Given the description of an element on the screen output the (x, y) to click on. 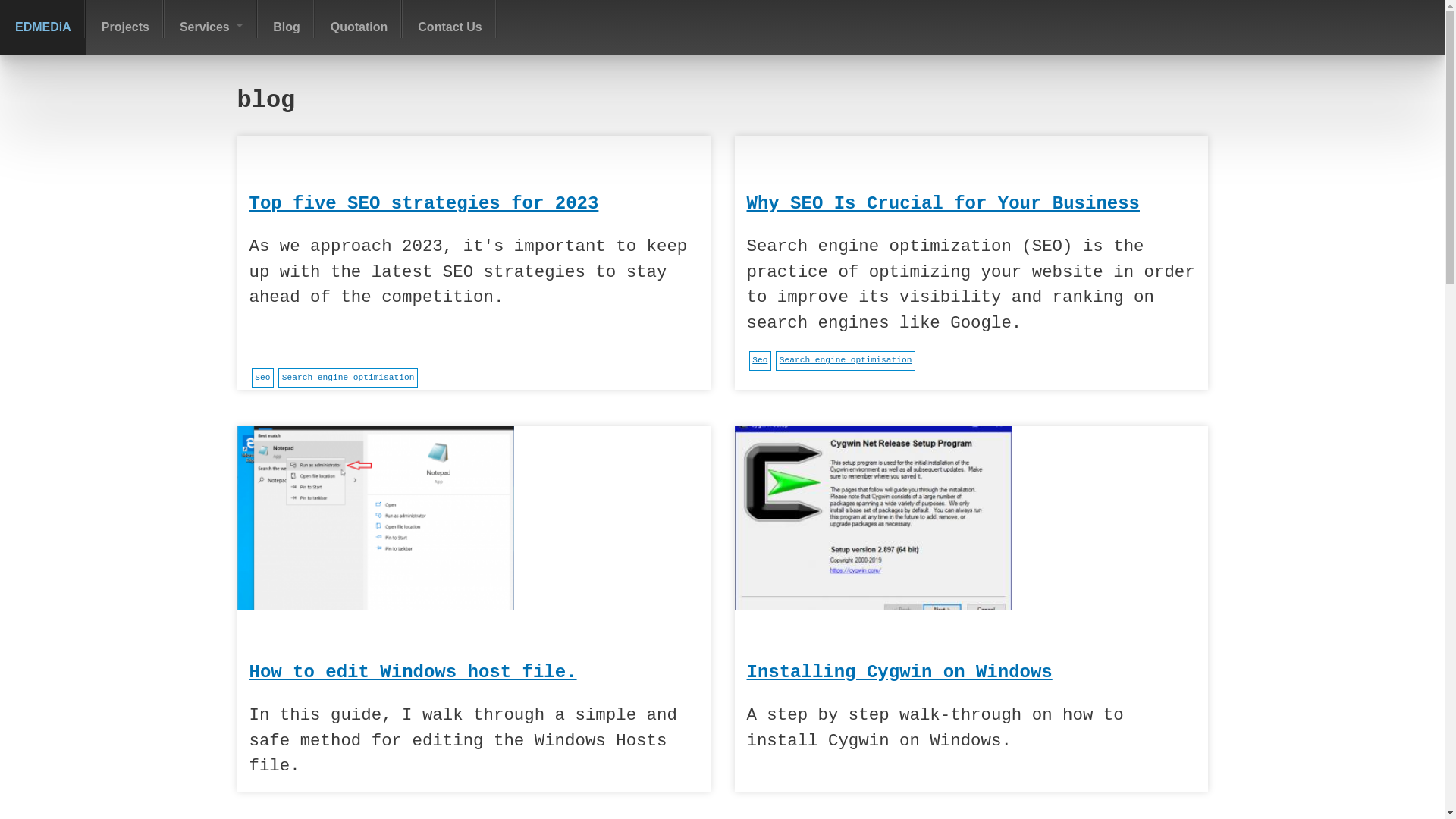
Contact Us Element type: text (449, 27)
Opening Windows host file as administrator using Notepad Element type: hover (374, 517)
Cygwin installation dialogue box Element type: hover (872, 517)
Why SEO Is Crucial for Your Business Element type: text (942, 203)
Top five SEO strategies for 2023 Element type: text (423, 203)
Installing Cygwin on Windows Element type: text (898, 672)
Seo Element type: text (760, 360)
Seo Element type: text (262, 377)
Projects Element type: text (125, 27)
Quotation Element type: text (359, 27)
Services Element type: text (210, 27)
Skip to main content Element type: text (72, 0)
EDMEDiA Element type: text (43, 27)
Search engine optimisation Element type: text (844, 360)
Search engine optimisation Element type: text (347, 377)
Blog Element type: text (286, 27)
Opening Windows host file as administrator using Notepad Element type: hover (374, 520)
How to edit Windows host file. Element type: text (412, 672)
Cygwin installation dialogue box Element type: hover (872, 520)
